Given the description of an element on the screen output the (x, y) to click on. 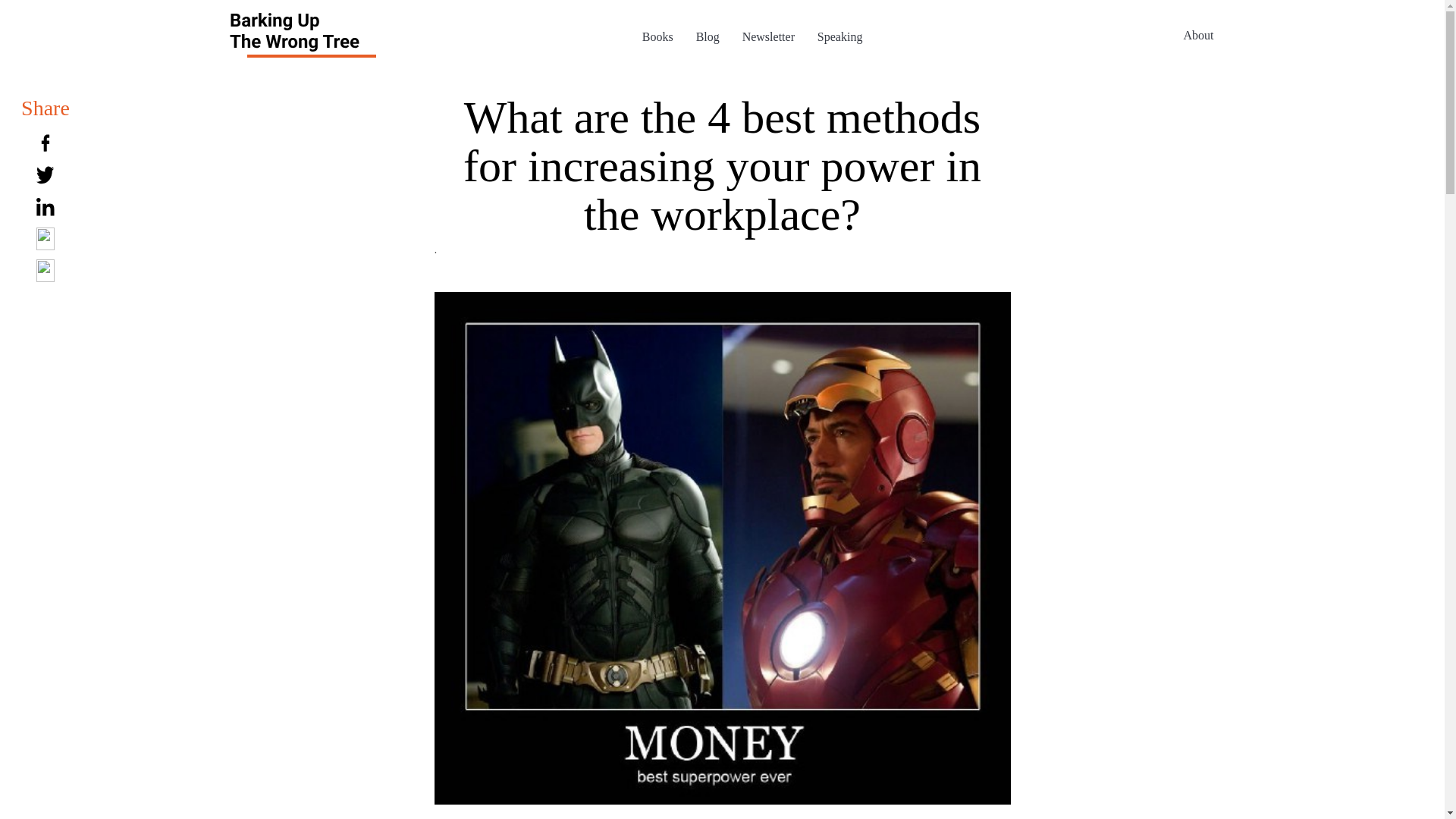
Blog (707, 36)
Speaking (839, 36)
Books (657, 36)
About (1198, 34)
Newsletter (768, 36)
